Given the description of an element on the screen output the (x, y) to click on. 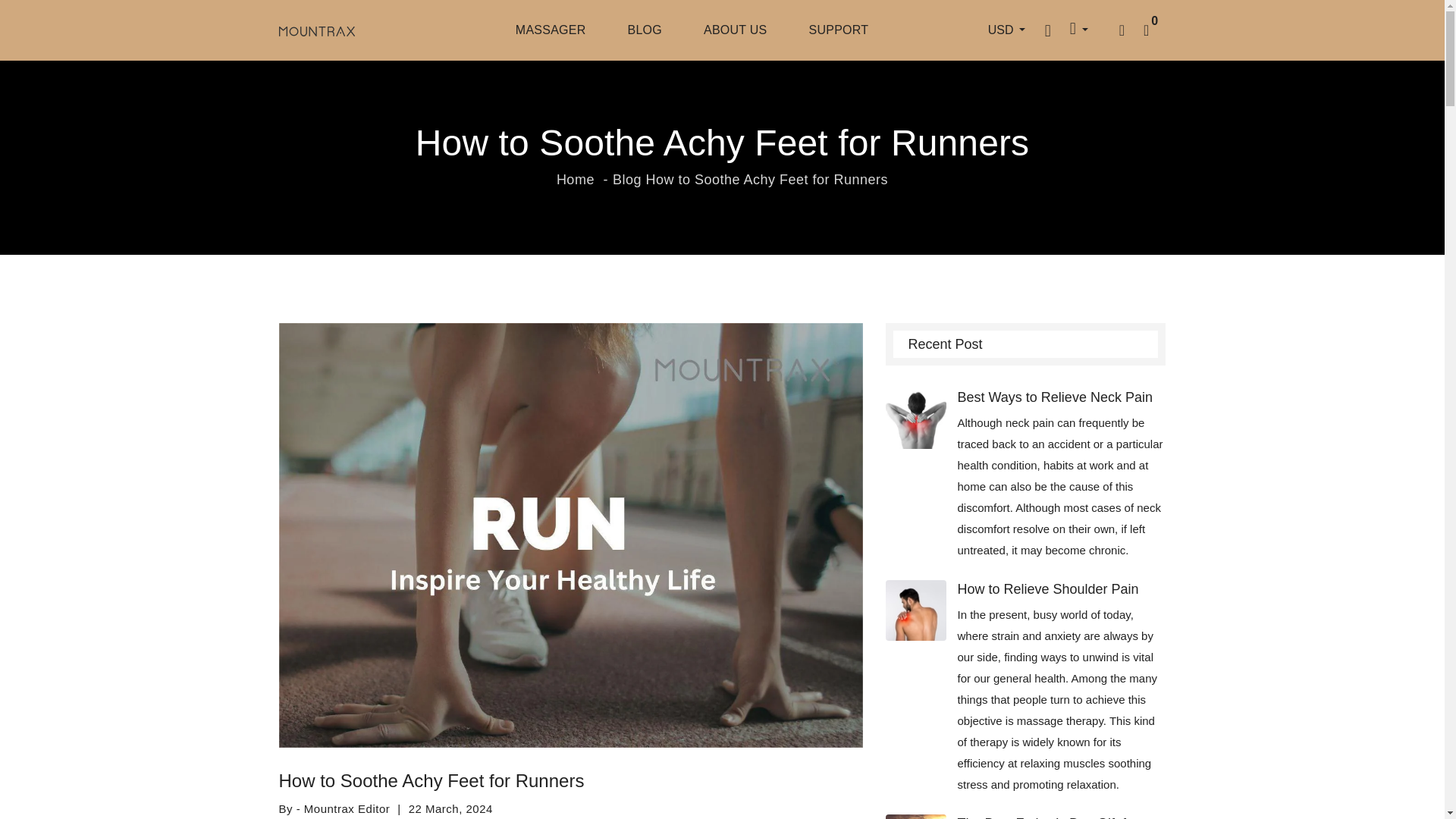
ABOUT US (735, 30)
Back to the home page (575, 179)
Home (575, 179)
Blog (627, 179)
MASSAGER (550, 30)
SUPPORT (837, 30)
